Given the description of an element on the screen output the (x, y) to click on. 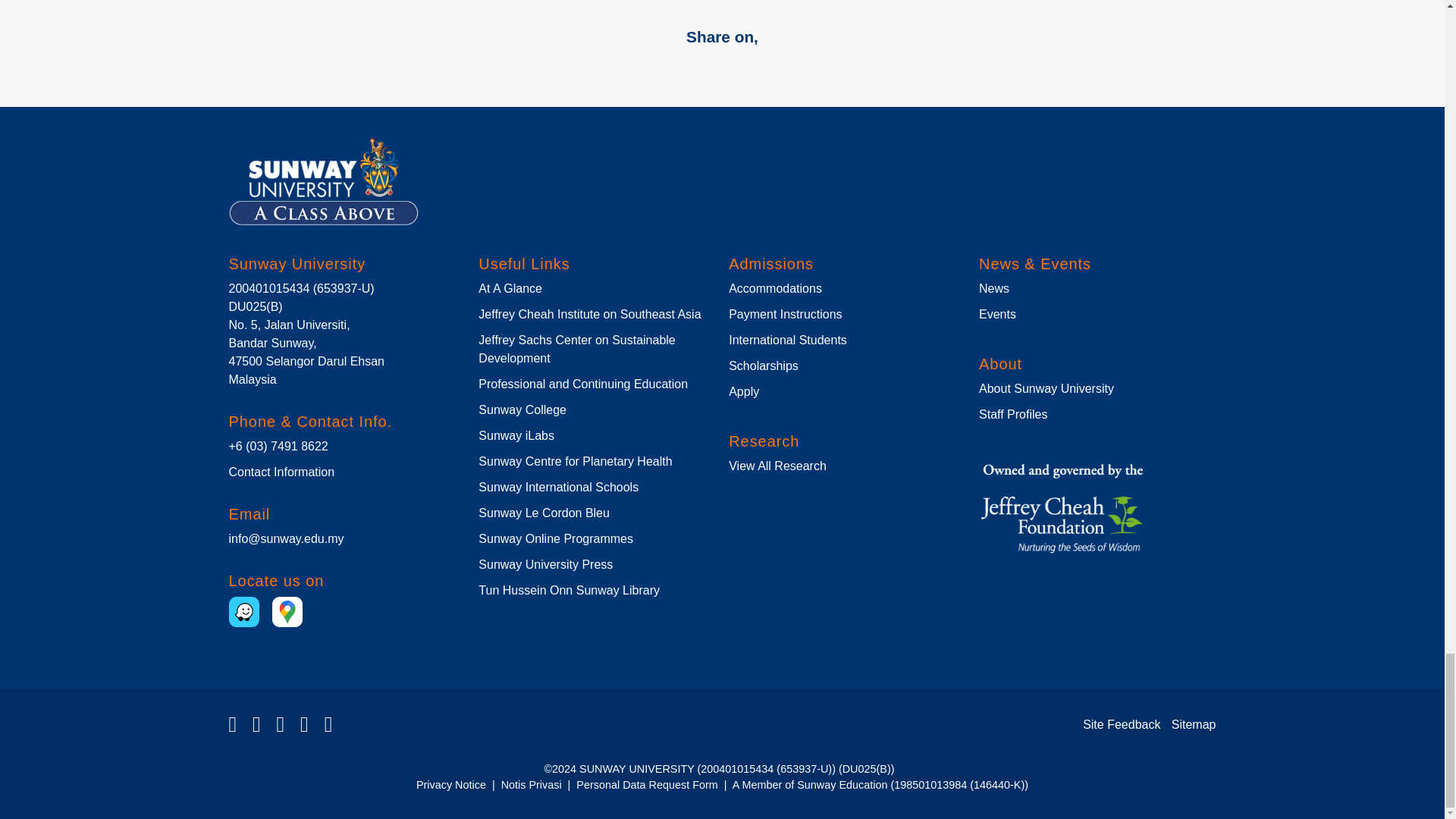
Share to Linkedin (703, 67)
Share to Facebook (630, 67)
Share to WhatsApp (667, 67)
Share to Email (740, 67)
